Given the description of an element on the screen output the (x, y) to click on. 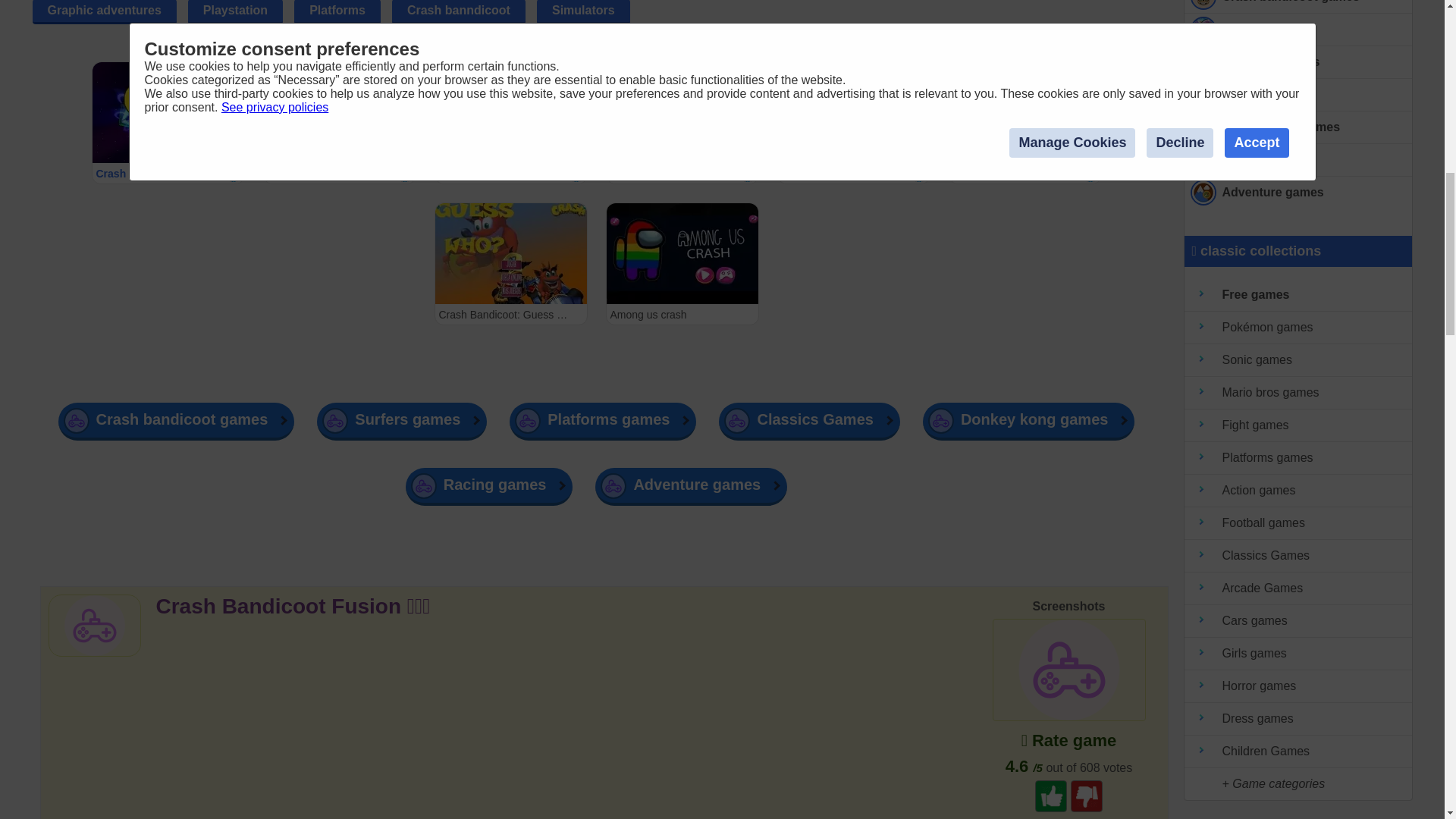
Sonic games (1298, 359)
Crash bandicoot games (1298, 6)
Action games (1298, 490)
Free Platforms games (1298, 61)
Surfers games (1298, 29)
Platforms games (1298, 458)
Free games (1298, 295)
Classics Games (1298, 555)
Arcade Games (1298, 588)
Free Adventure games, Challenges and great adventures (1298, 192)
